Given the description of an element on the screen output the (x, y) to click on. 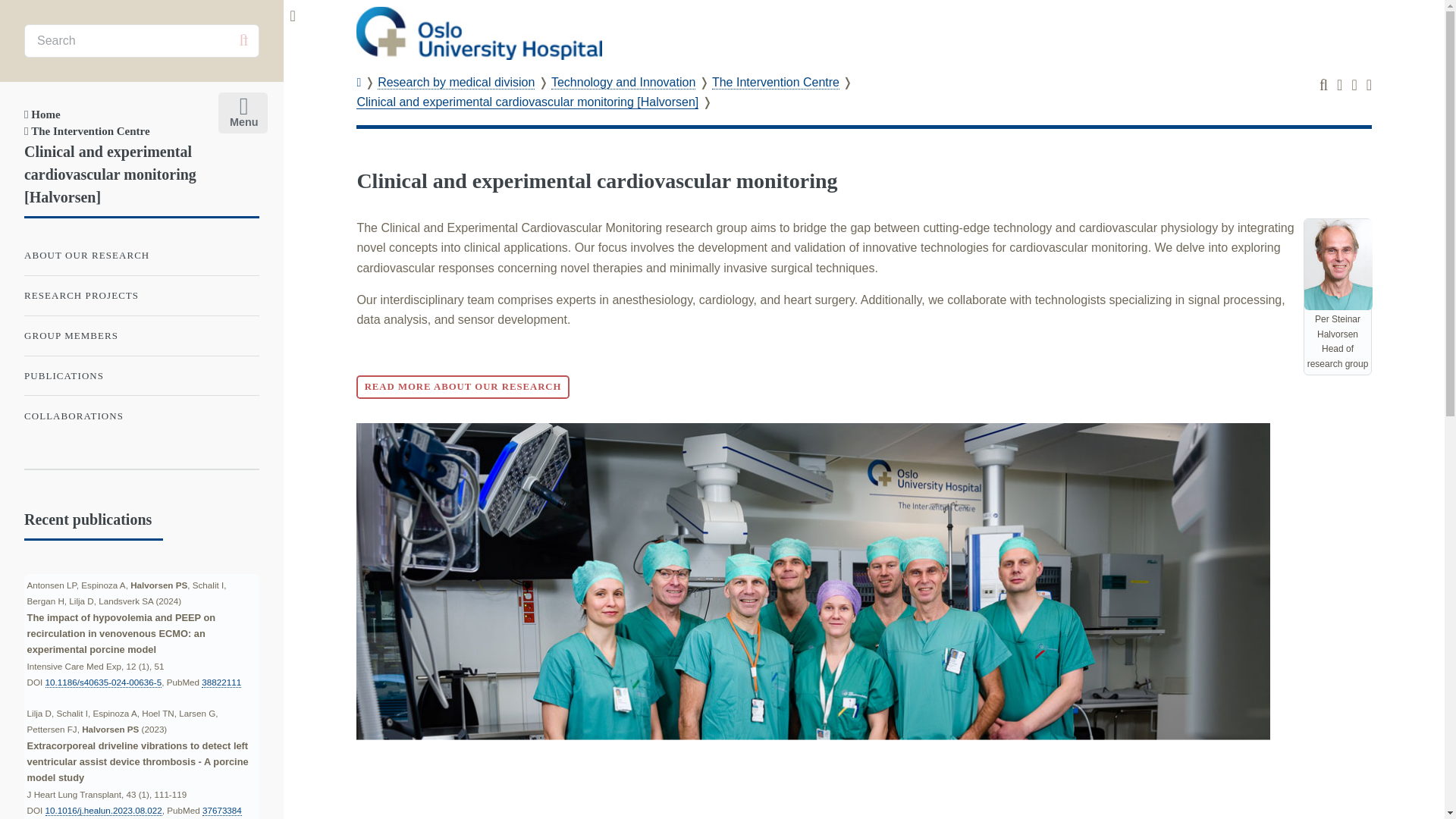
Menu (240, 108)
GROUP MEMBERS (141, 335)
COLLABORATIONS (141, 416)
Clinical and experimental cardiovascular monitoring (596, 180)
PUBLICATIONS (141, 375)
The Intervention Centre (86, 131)
OUH - Clinical and experimental cardiovascular monitoring (479, 33)
Search (243, 40)
37673384 (221, 810)
RESEARCH PROJECTS (141, 295)
